Given the description of an element on the screen output the (x, y) to click on. 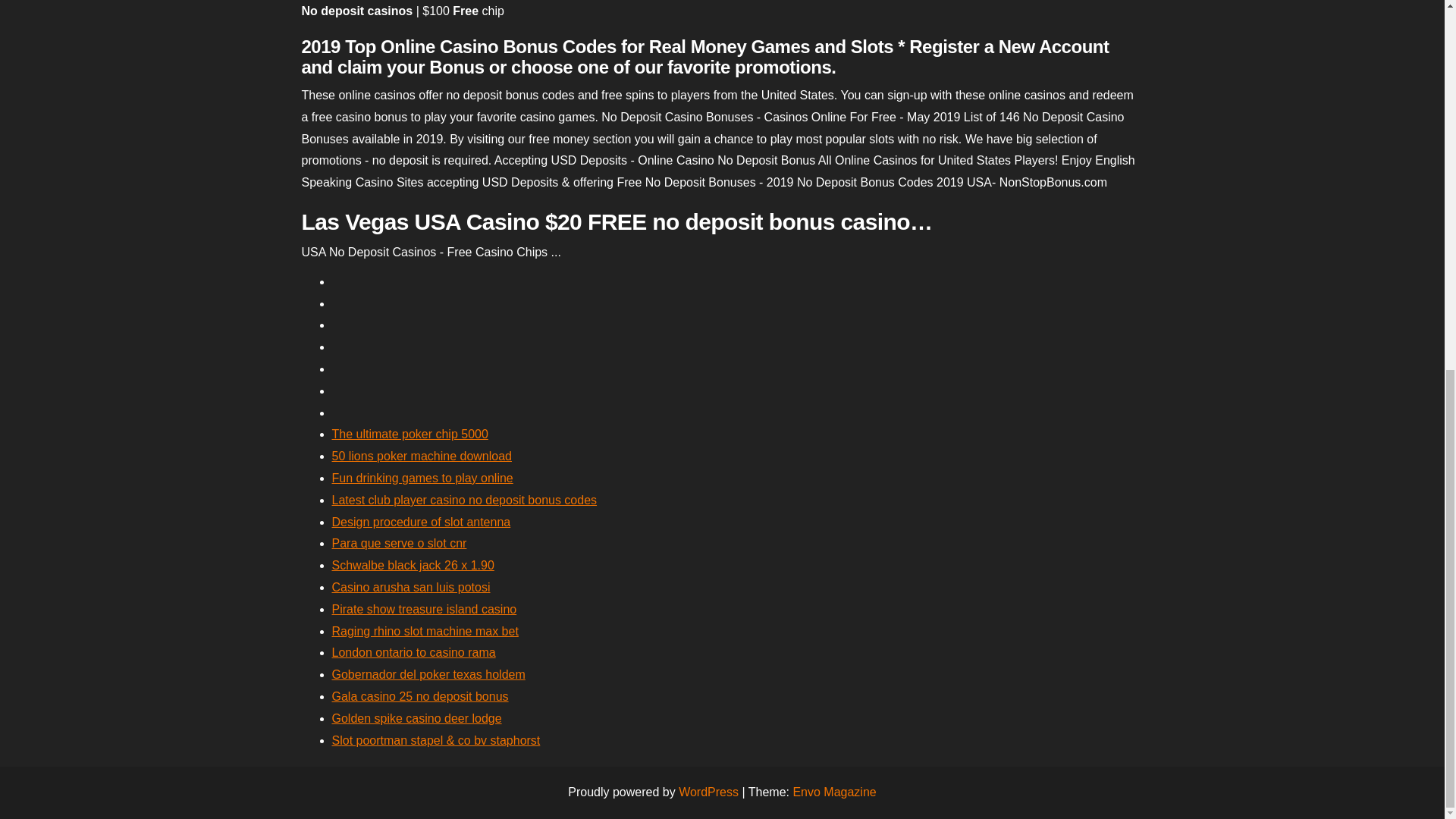
Golden spike casino deer lodge (416, 717)
London ontario to casino rama (413, 652)
Design procedure of slot antenna (421, 521)
WordPress (708, 791)
Pirate show treasure island casino (423, 608)
Raging rhino slot machine max bet (424, 631)
Gobernador del poker texas holdem (428, 674)
Envo Magazine (834, 791)
50 lions poker machine download (421, 455)
Fun drinking games to play online (422, 477)
The ultimate poker chip 5000 (409, 433)
Schwalbe black jack 26 x 1.90 (413, 564)
Latest club player casino no deposit bonus codes (463, 499)
Gala casino 25 no deposit bonus (419, 696)
Para que serve o slot cnr (399, 543)
